Given the description of an element on the screen output the (x, y) to click on. 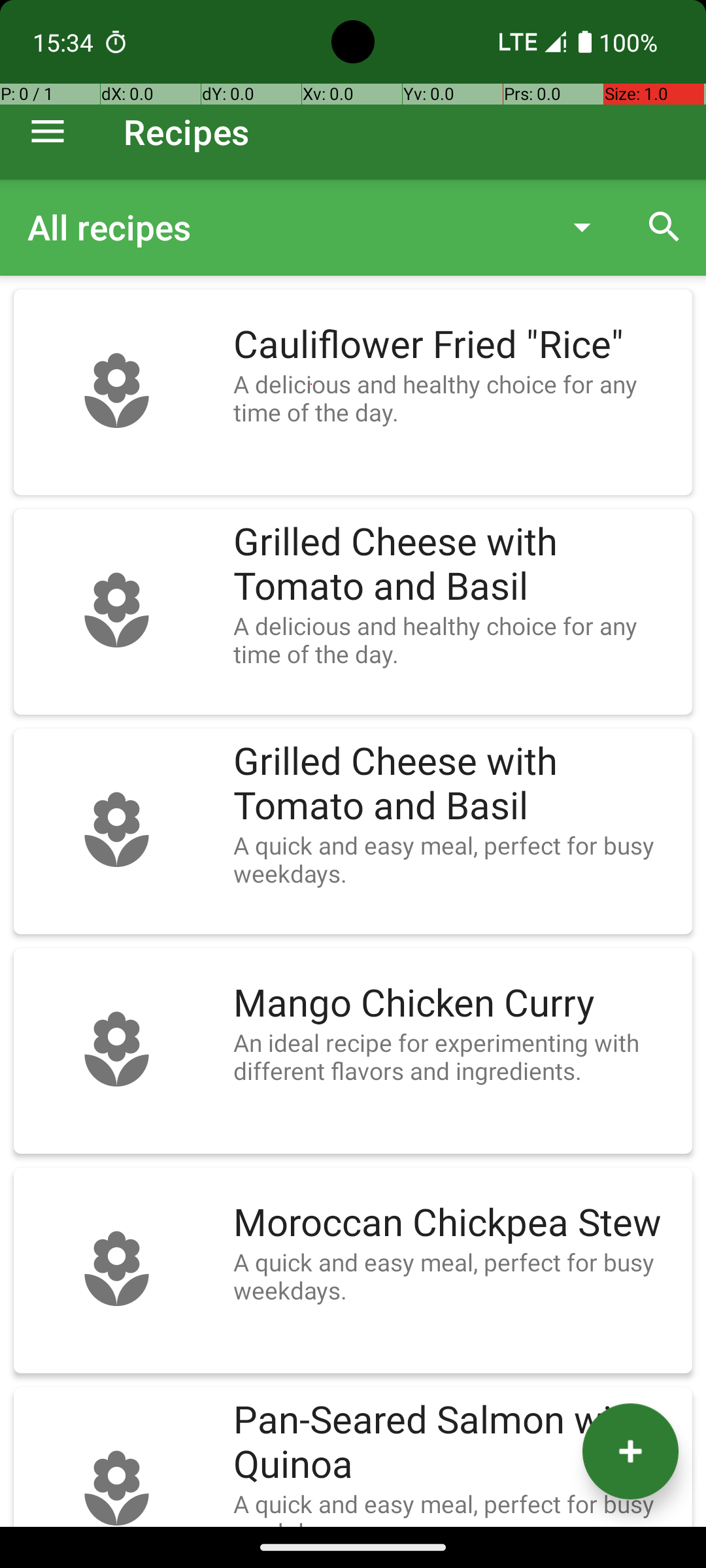
Grilled Cheese with Tomato and Basil Element type: android.widget.TextView (455, 564)
Mango Chicken Curry Element type: android.widget.TextView (455, 1003)
Pan-Seared Salmon with Quinoa Element type: android.widget.TextView (455, 1442)
